Given the description of an element on the screen output the (x, y) to click on. 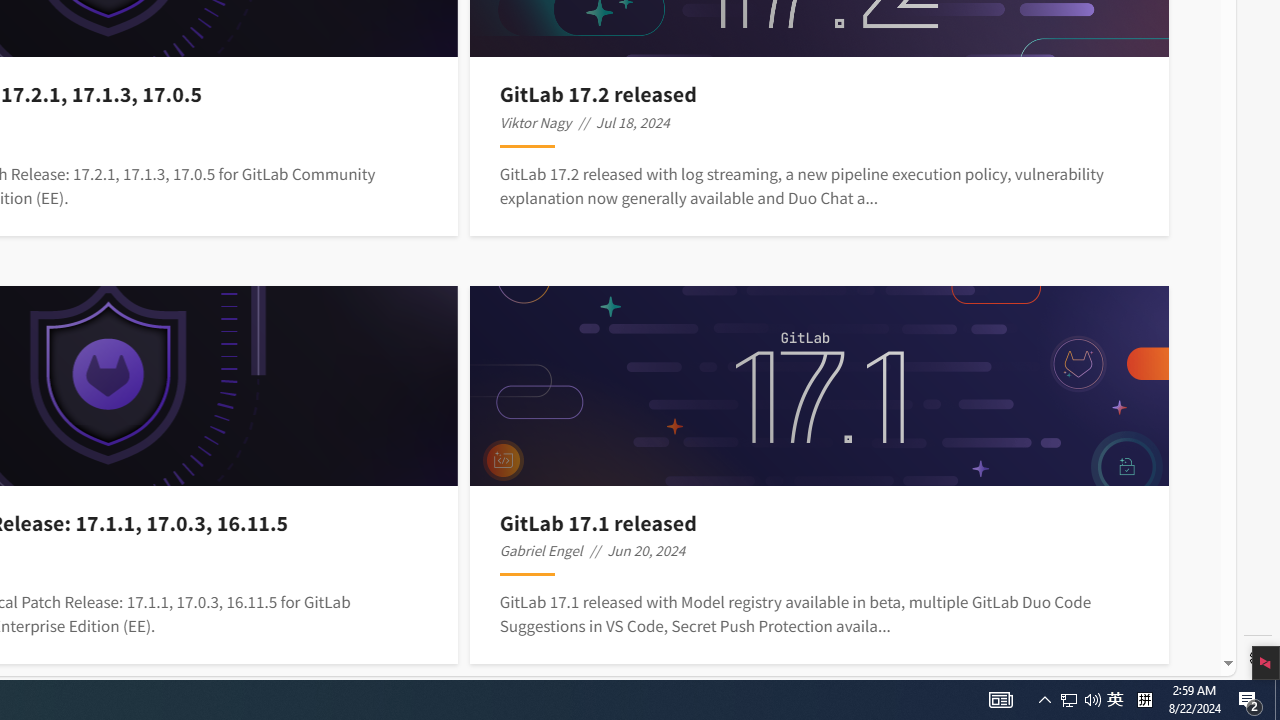
Post Image (818, 385)
GitLab 17.2 released (819, 93)
Viktor Nagy (535, 121)
Gabriel Engel (540, 550)
Post Image (818, 385)
GitLab 17.1 released (819, 522)
